Given the description of an element on the screen output the (x, y) to click on. 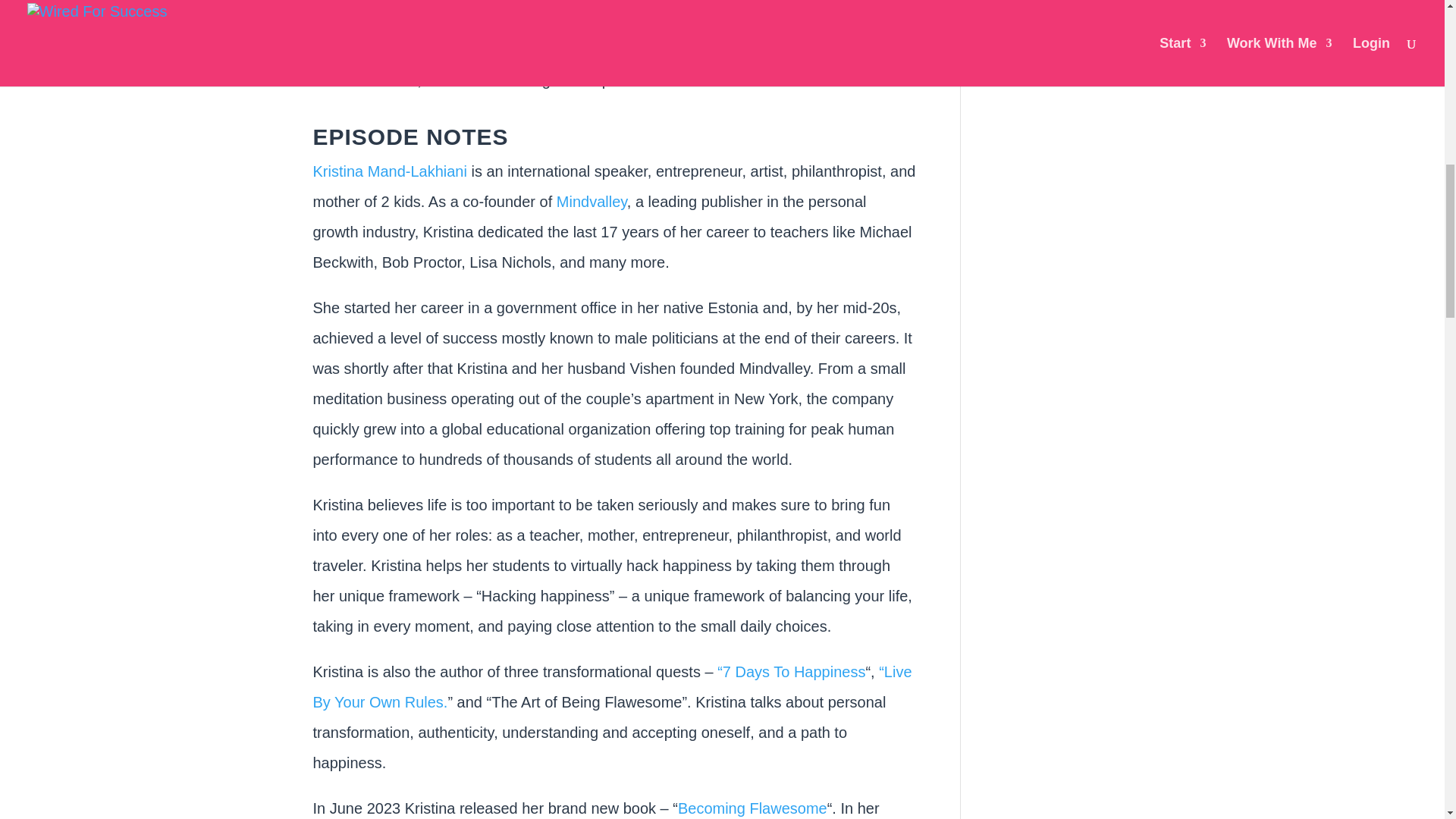
Becoming Flawesome (752, 808)
Kristina Mand-Lakhiani (389, 170)
Mindvalley (591, 201)
